Given the description of an element on the screen output the (x, y) to click on. 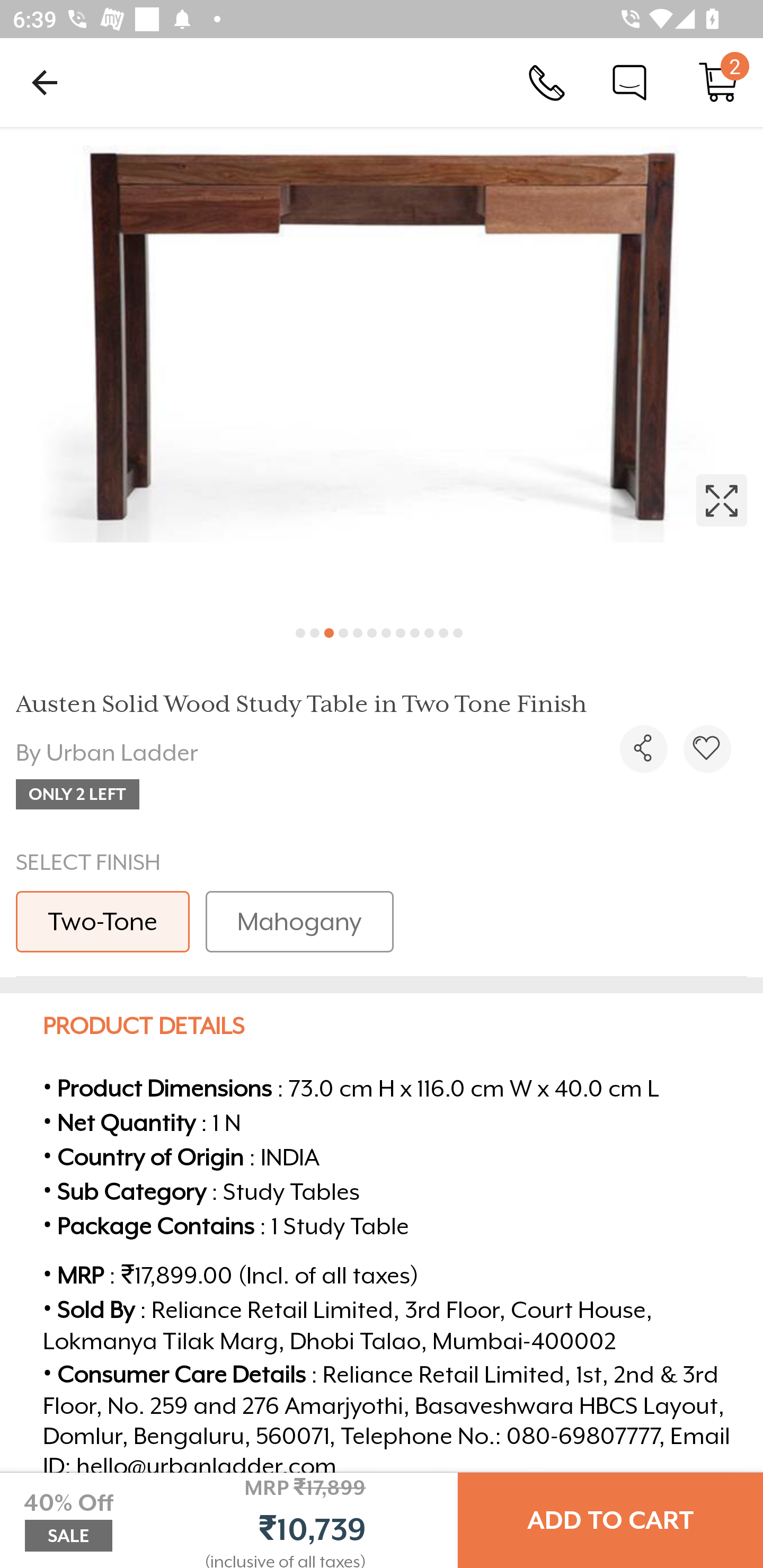
Navigate up (44, 82)
Call Us (546, 81)
Chat (629, 81)
Cart (718, 81)
 (381, 370)
 (643, 748)
 (706, 748)
Two-Tone (102, 920)
Mahogany (299, 920)
ADD TO CART (610, 1520)
